Given the description of an element on the screen output the (x, y) to click on. 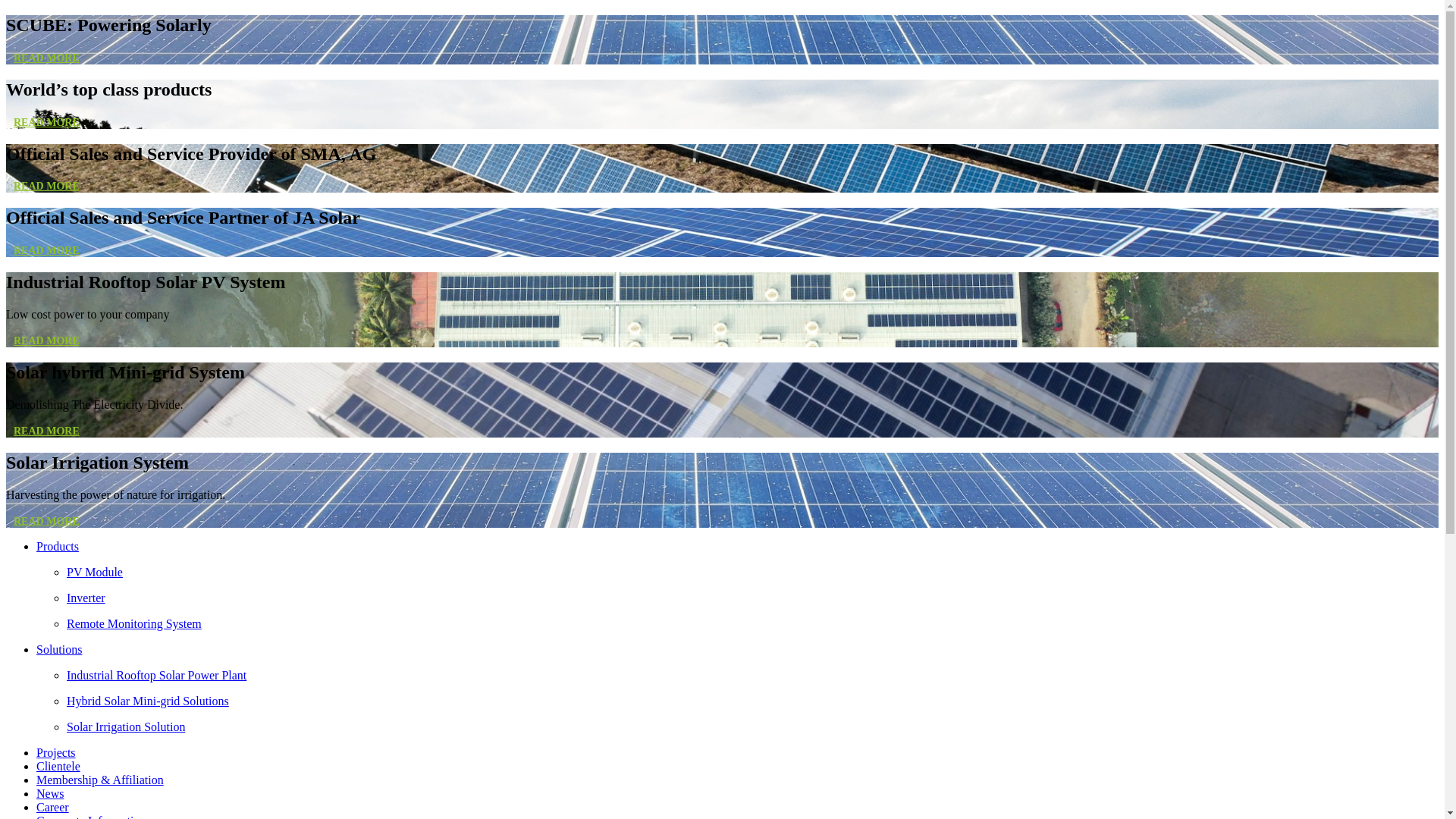
READ MORE Element type: text (46, 121)
Industrial Rooftop Solar Power Plant Element type: text (752, 675)
Hybrid Solar Mini-grid Solutions Element type: text (752, 701)
Remote Monitoring System Element type: text (752, 623)
READ MORE Element type: text (46, 520)
READ MORE Element type: text (46, 185)
Products Element type: text (57, 545)
READ MORE Element type: text (46, 250)
News Element type: text (49, 793)
PV Module Element type: text (752, 572)
READ MORE Element type: text (46, 340)
Inverter Element type: text (752, 598)
READ MORE Element type: text (46, 430)
Projects Element type: text (55, 752)
Membership & Affiliation Element type: text (99, 779)
Solutions Element type: text (58, 649)
Solar Irrigation Solution Element type: text (752, 727)
Career Element type: text (52, 806)
Clientele Element type: text (58, 765)
READ MORE Element type: text (46, 57)
